Given the description of an element on the screen output the (x, y) to click on. 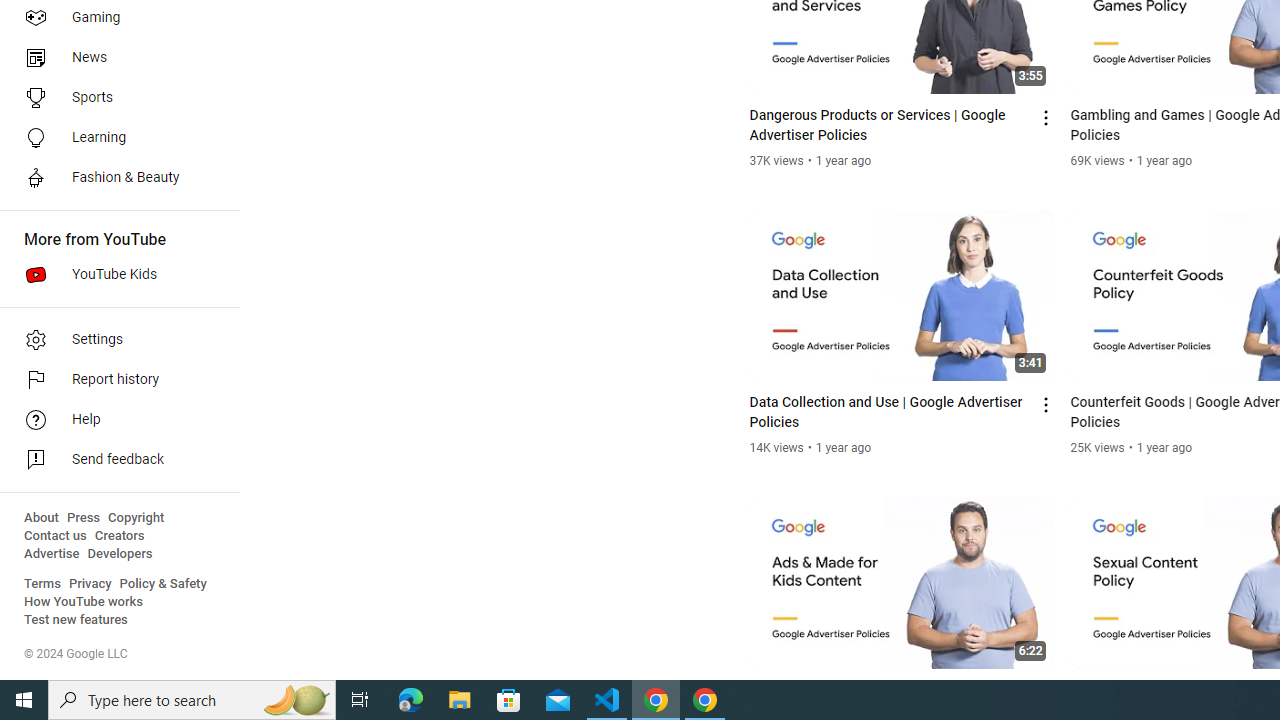
Advertise (51, 554)
YouTube Kids (113, 274)
Help (113, 419)
Creators (118, 536)
Policy & Safety (163, 584)
Press (83, 518)
Learning (113, 137)
Privacy (89, 584)
Contact us (55, 536)
Developers (120, 554)
How YouTube works (83, 602)
Settings (113, 339)
Send feedback (113, 459)
